Given the description of an element on the screen output the (x, y) to click on. 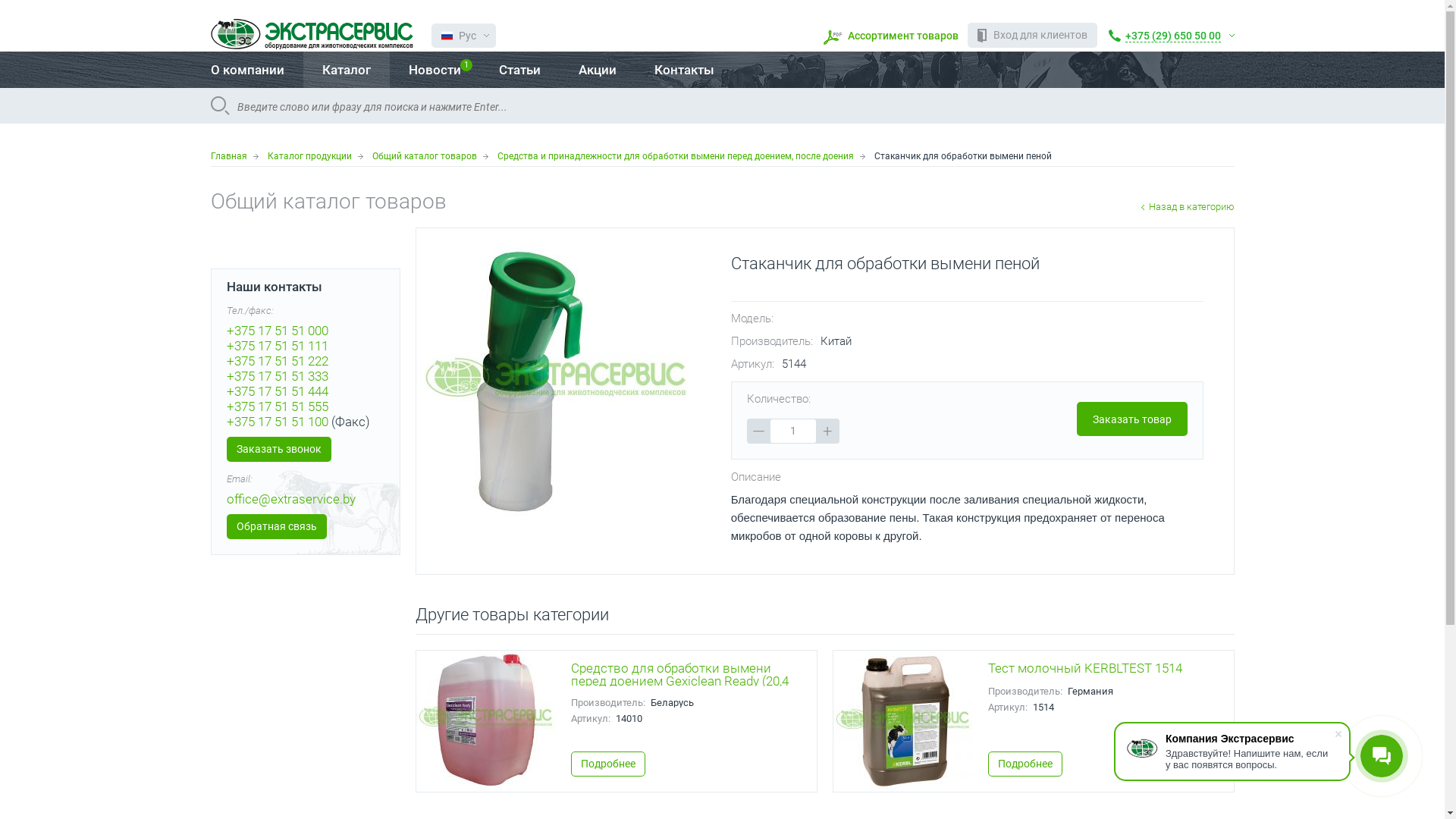
+375 17 51 51 222 Element type: text (276, 360)
+ Element type: text (827, 430)
+375 17 51 51 333 Element type: text (276, 375)
+375 (29) 650 50 00 Element type: text (1171, 34)
+375 17 51 51 000 Element type: text (276, 330)
+375 17 51 51 555 Element type: text (276, 406)
+375 17 51 51 100 Element type: text (276, 421)
+375 17 51 51 111 Element type: text (276, 345)
office@extraservice.by Element type: text (289, 498)
+375 17 51 51 444 Element type: text (276, 390)
